Given the description of an element on the screen output the (x, y) to click on. 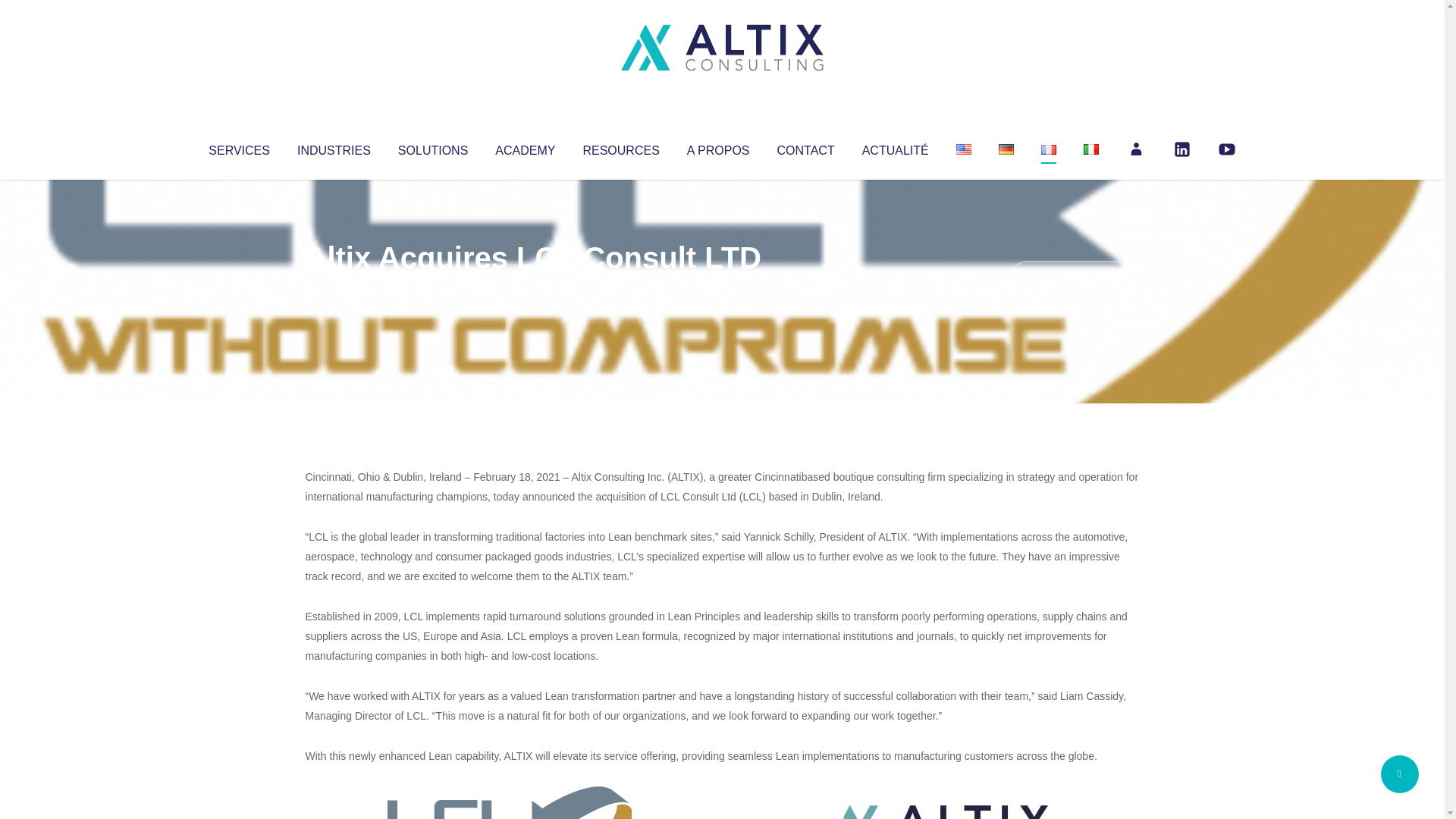
INDUSTRIES (334, 146)
Altix (333, 287)
SERVICES (238, 146)
ACADEMY (524, 146)
A PROPOS (718, 146)
RESOURCES (620, 146)
No Comments (1073, 278)
Articles par Altix (333, 287)
Uncategorized (530, 287)
SOLUTIONS (432, 146)
